Given the description of an element on the screen output the (x, y) to click on. 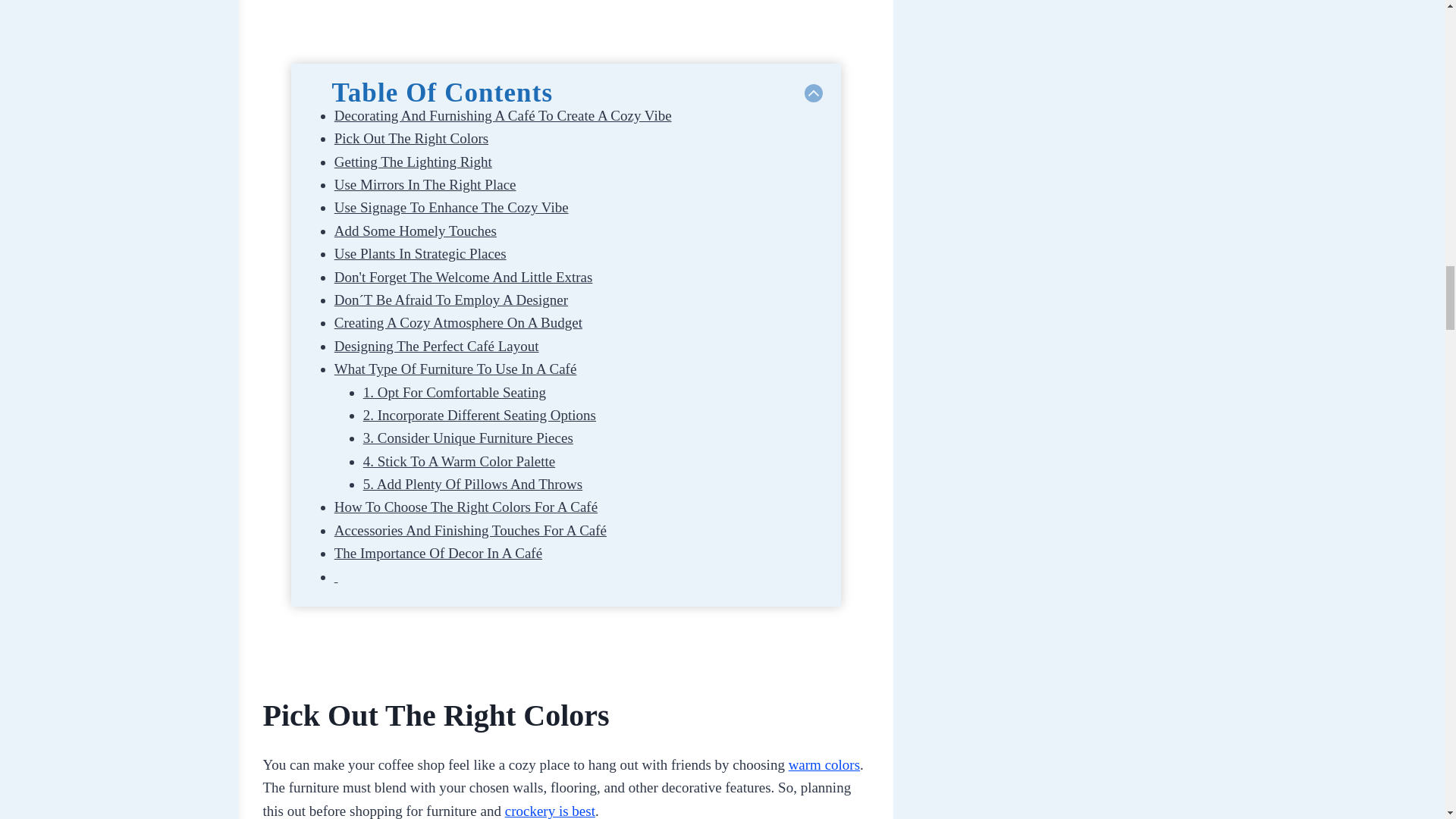
Use Signage To Enhance The Cozy Vibe (451, 207)
2. Incorporate Different Seating Options (478, 415)
Creating A Cozy Atmosphere On A Budget (458, 322)
4. Stick To A Warm Color Palette (458, 461)
Use Plants In Strategic Places (420, 253)
Pick Out The Right Colors (410, 138)
3. Consider Unique Furniture Pieces (467, 437)
5. Add Plenty Of Pillows And Throws (472, 483)
Add Some Homely Touches (415, 230)
Use Mirrors In The Right Place (425, 184)
warm colors (824, 764)
Don'T Forget The Welcome And Little Extras (463, 277)
Getting The Lighting Right (413, 161)
1. Opt For Comfortable Seating (454, 392)
